Given the description of an element on the screen output the (x, y) to click on. 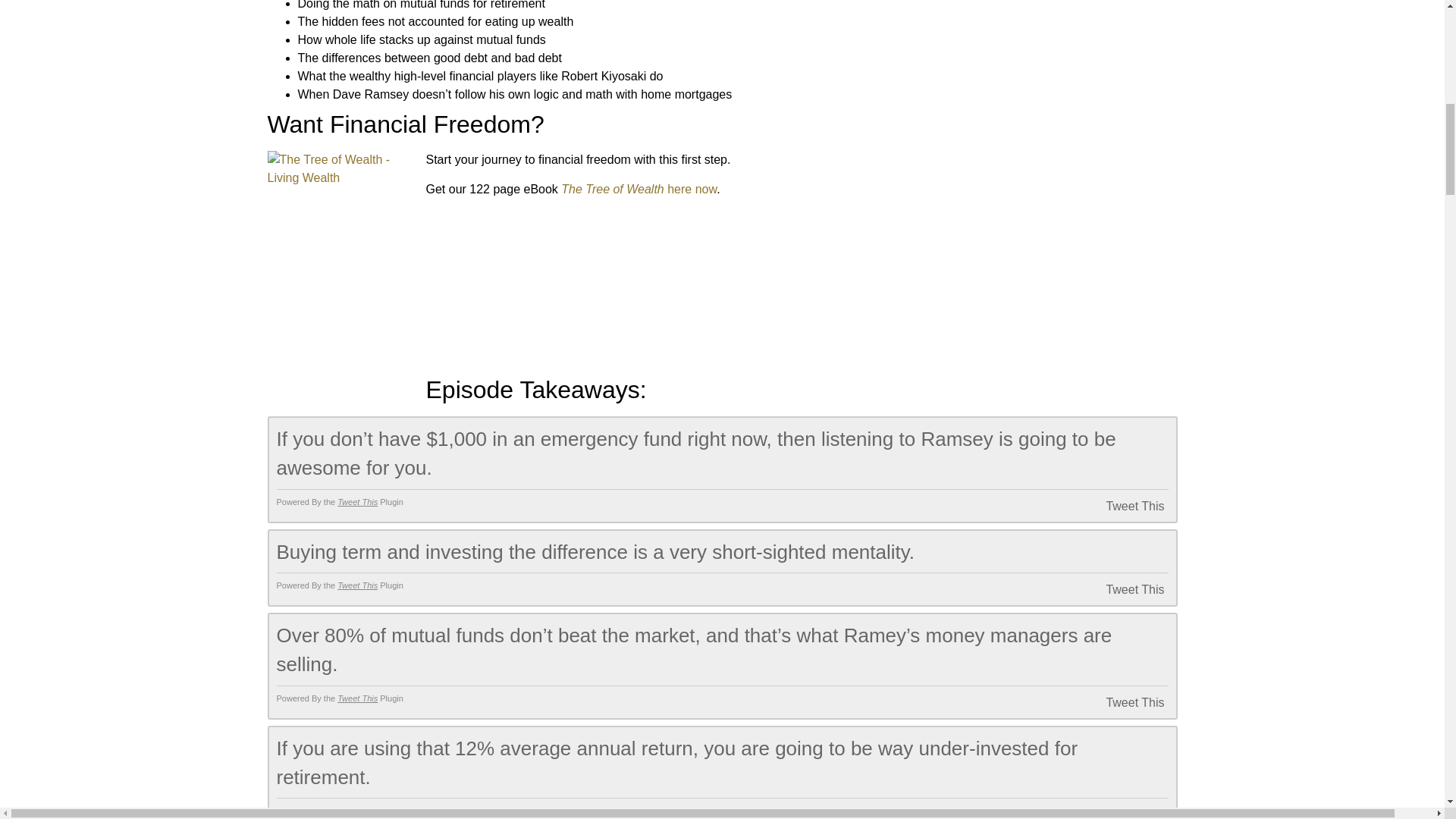
Tweet This (1114, 702)
Tweet This (357, 584)
Tweet This (1114, 589)
Tweet This (1114, 813)
Tweet This (357, 697)
The Tree of Wealth here now (638, 188)
Tweet This (1114, 505)
Tweet This (357, 501)
Tweet This (357, 809)
